Given the description of an element on the screen output the (x, y) to click on. 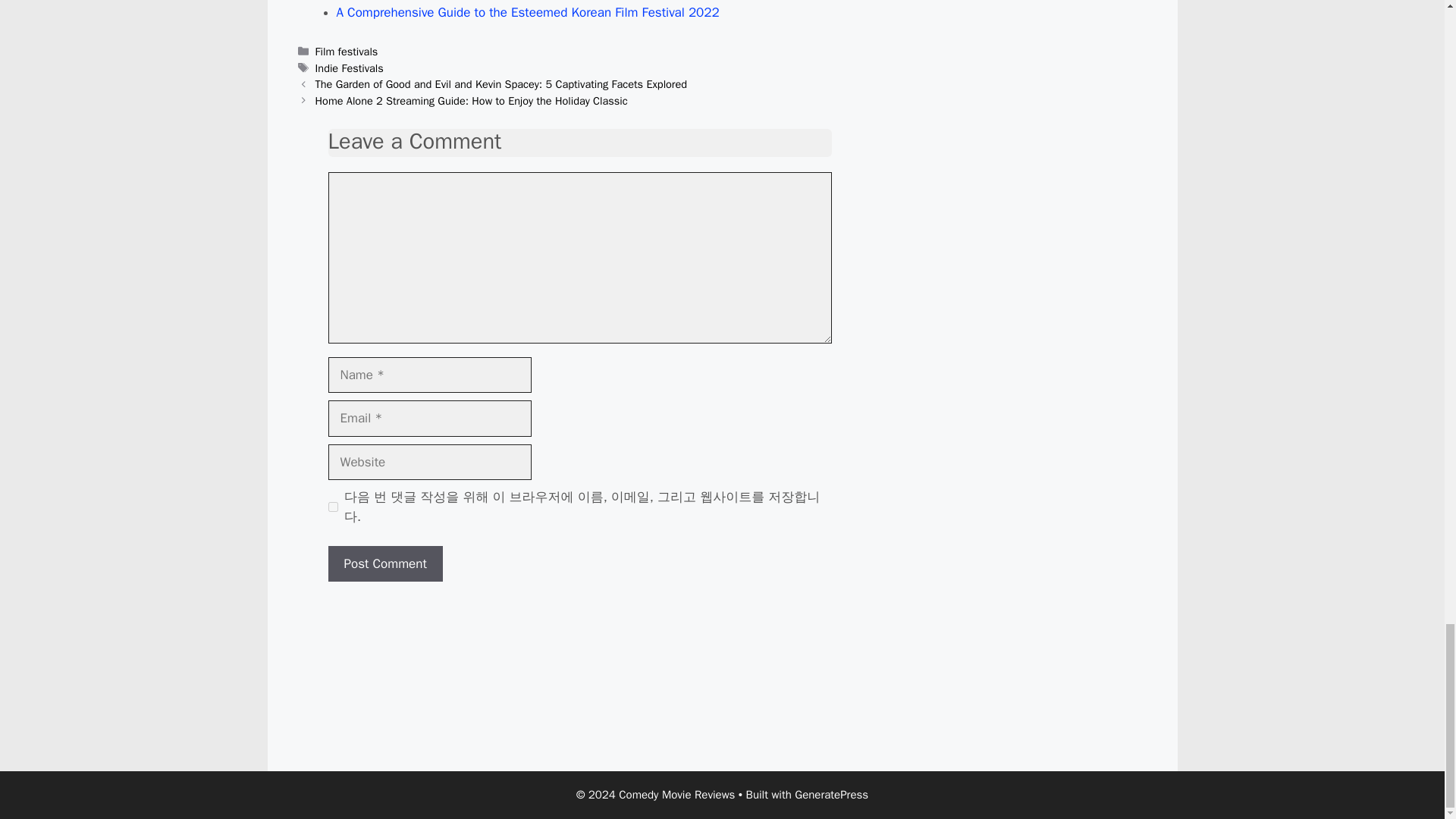
Film festivals (346, 51)
yes (332, 506)
Post Comment (384, 564)
Post Comment (384, 564)
Indie Festivals (349, 68)
